Given the description of an element on the screen output the (x, y) to click on. 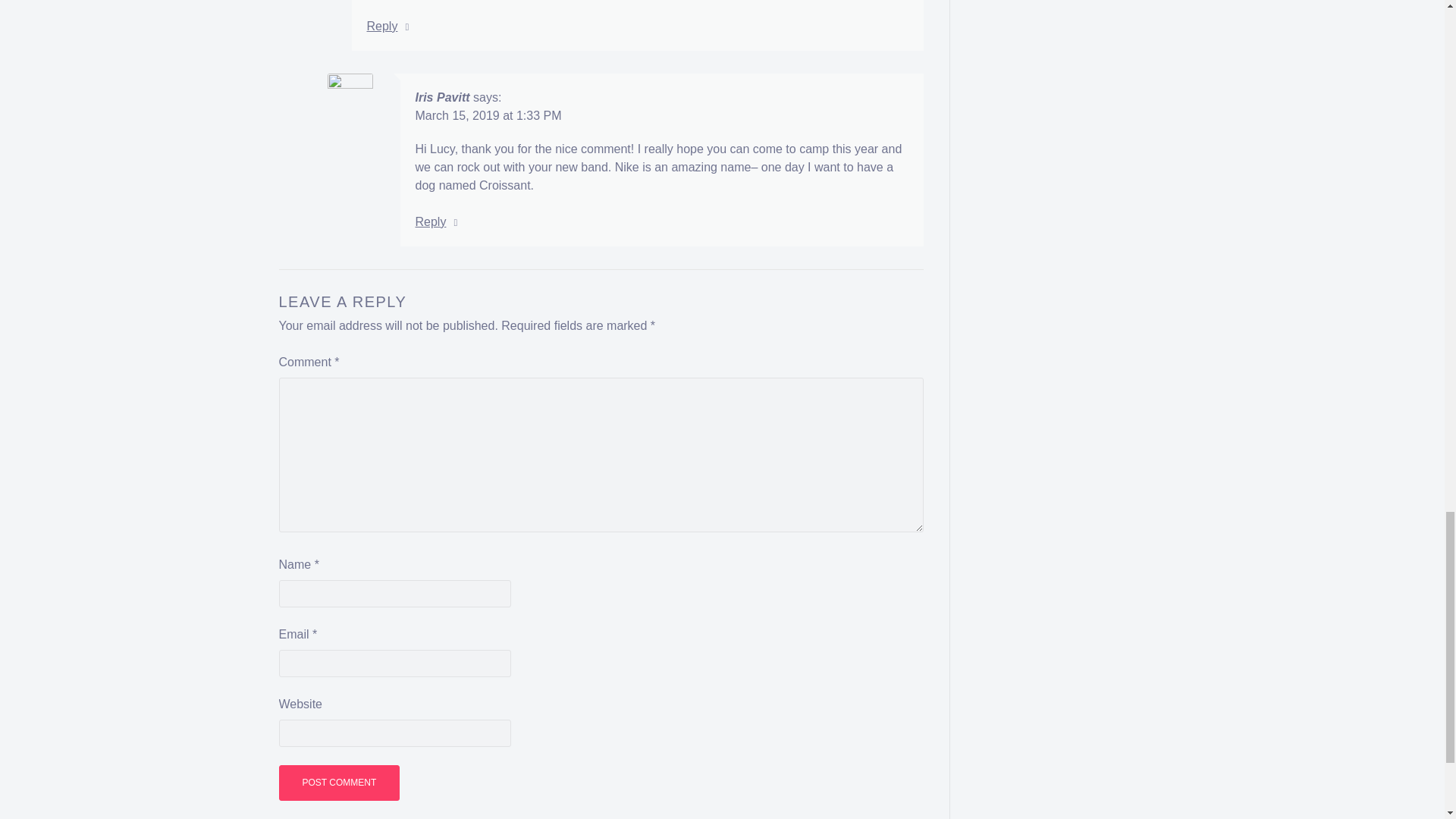
Post Comment (339, 782)
